Given the description of an element on the screen output the (x, y) to click on. 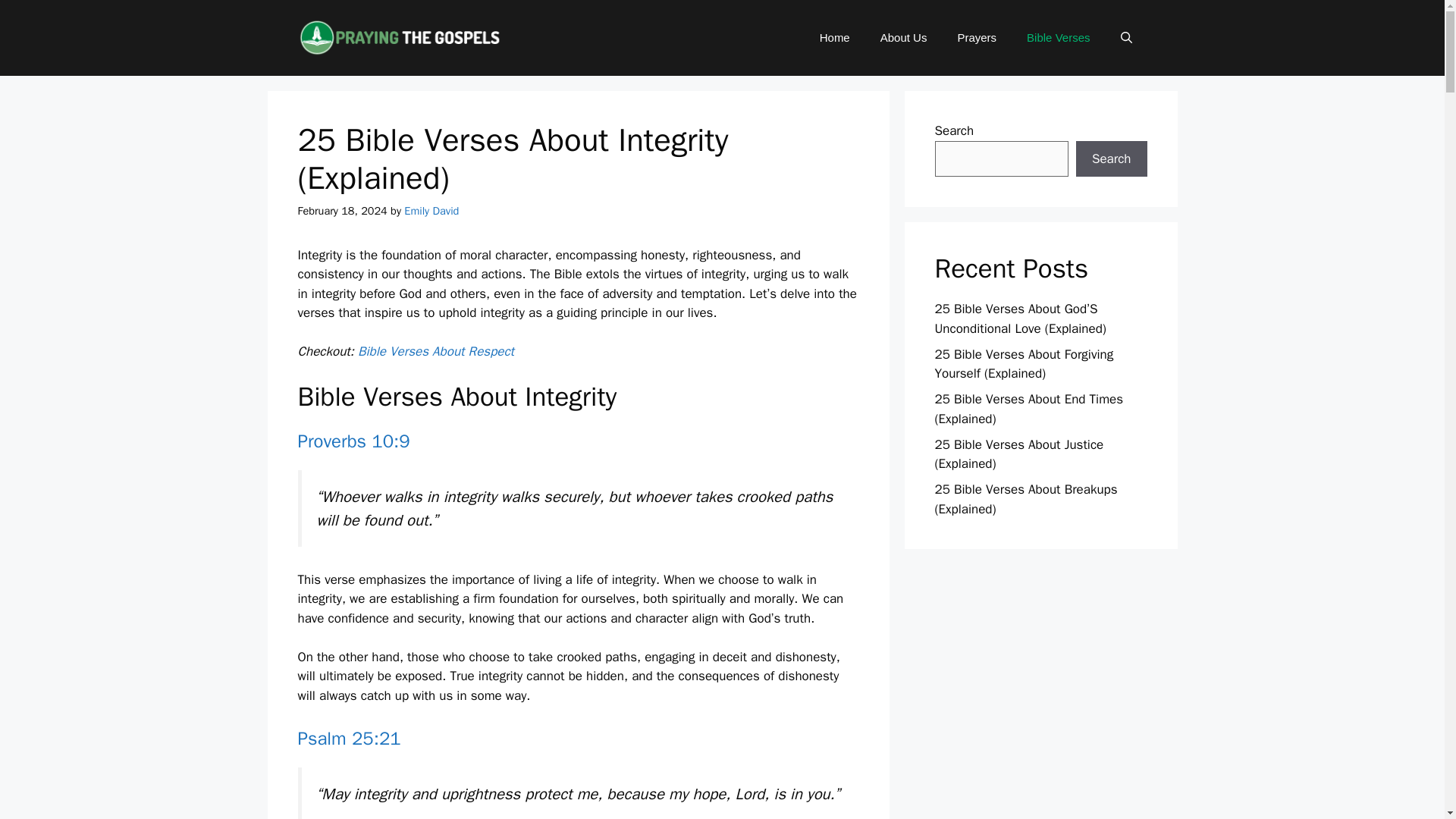
Home (834, 37)
About Us (903, 37)
Psalm 25:21 (348, 738)
Proverbs 10:9 (353, 440)
Bible Verses About Respect (435, 351)
Bible Verses (1058, 37)
Prayers (976, 37)
View all posts by Emily David (431, 210)
Emily David (431, 210)
